Given the description of an element on the screen output the (x, y) to click on. 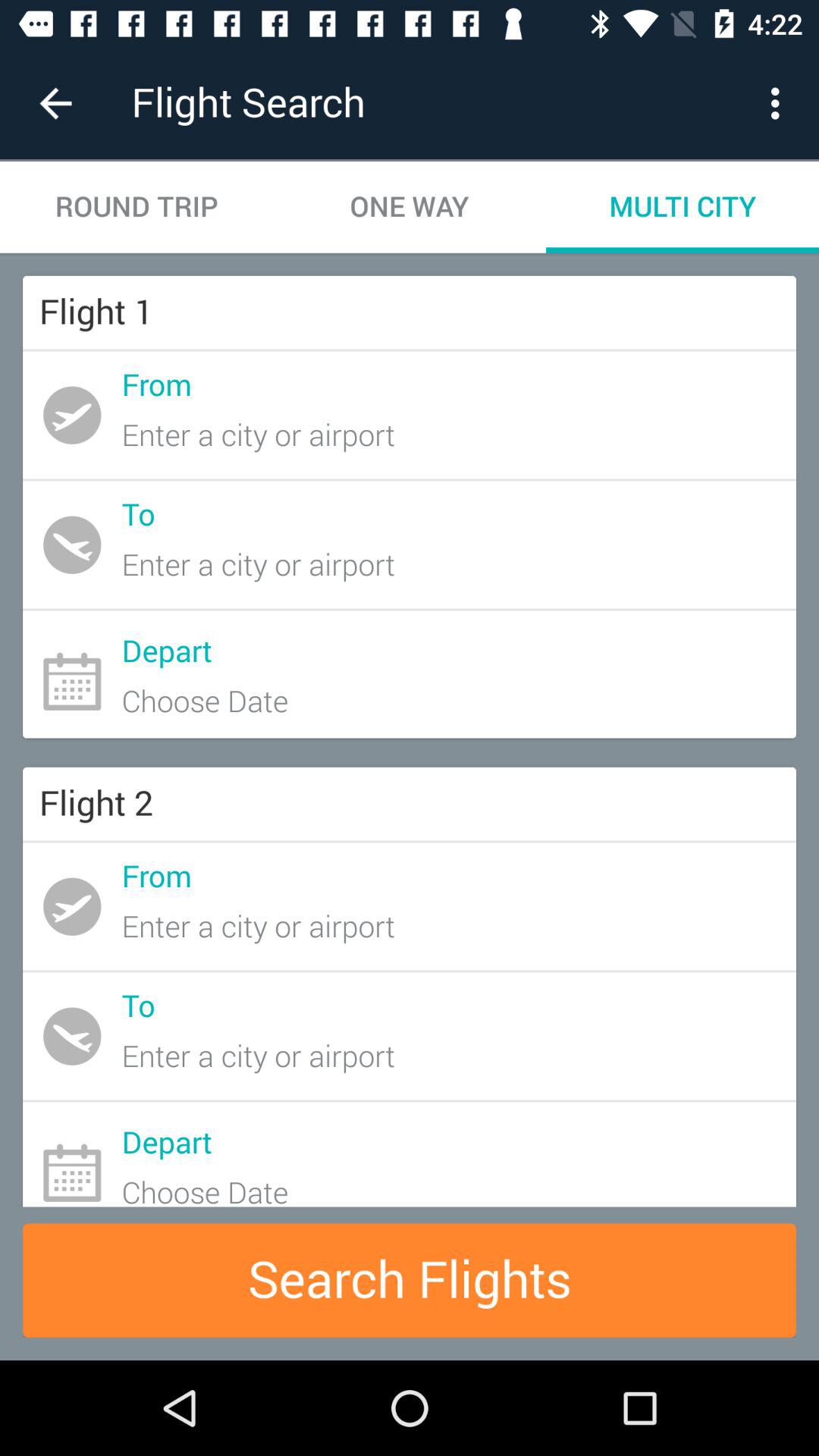
click the item to the right of one way icon (682, 207)
